Given the description of an element on the screen output the (x, y) to click on. 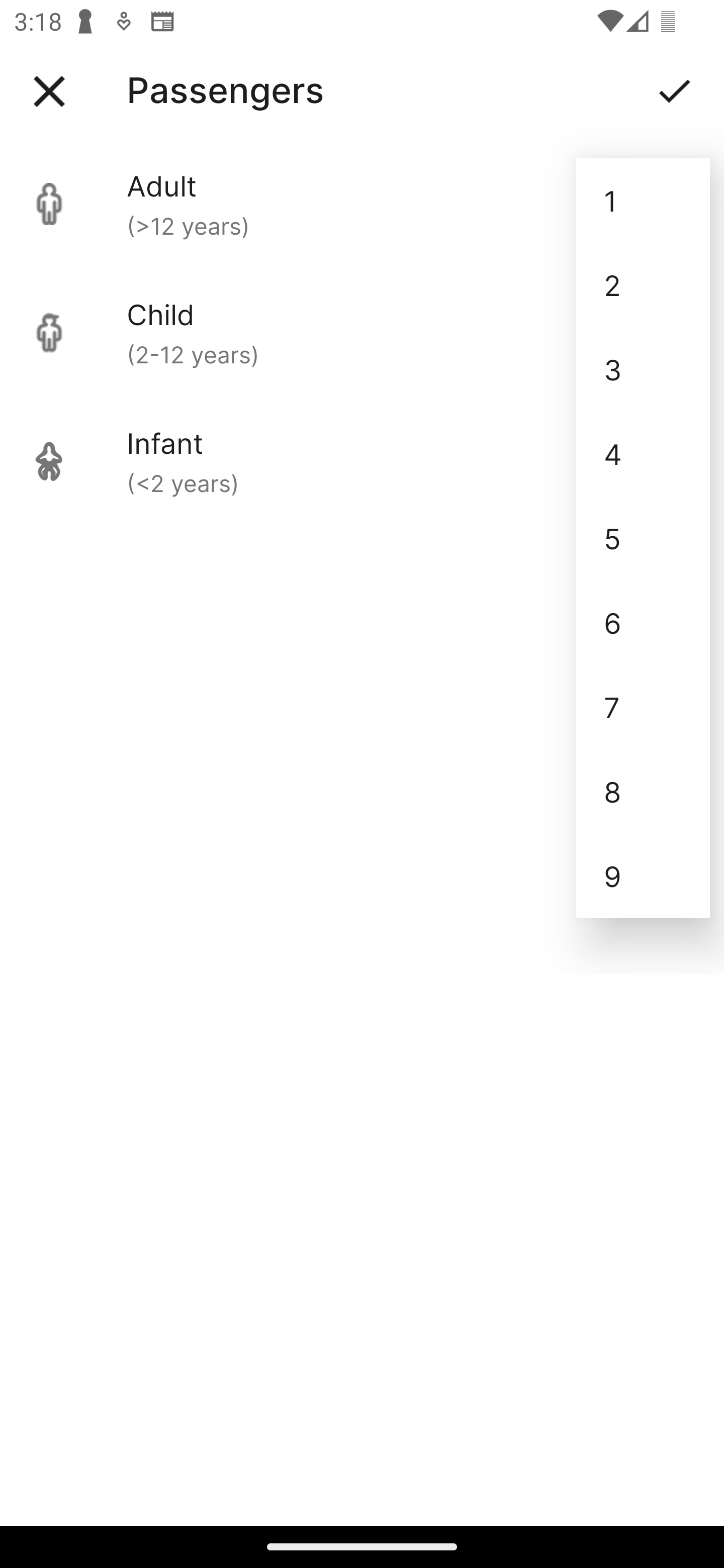
1 (642, 200)
2 (642, 285)
3 (642, 368)
4 (642, 452)
5 (642, 537)
6 (642, 622)
7 (642, 706)
8 (642, 791)
9 (642, 876)
